Given the description of an element on the screen output the (x, y) to click on. 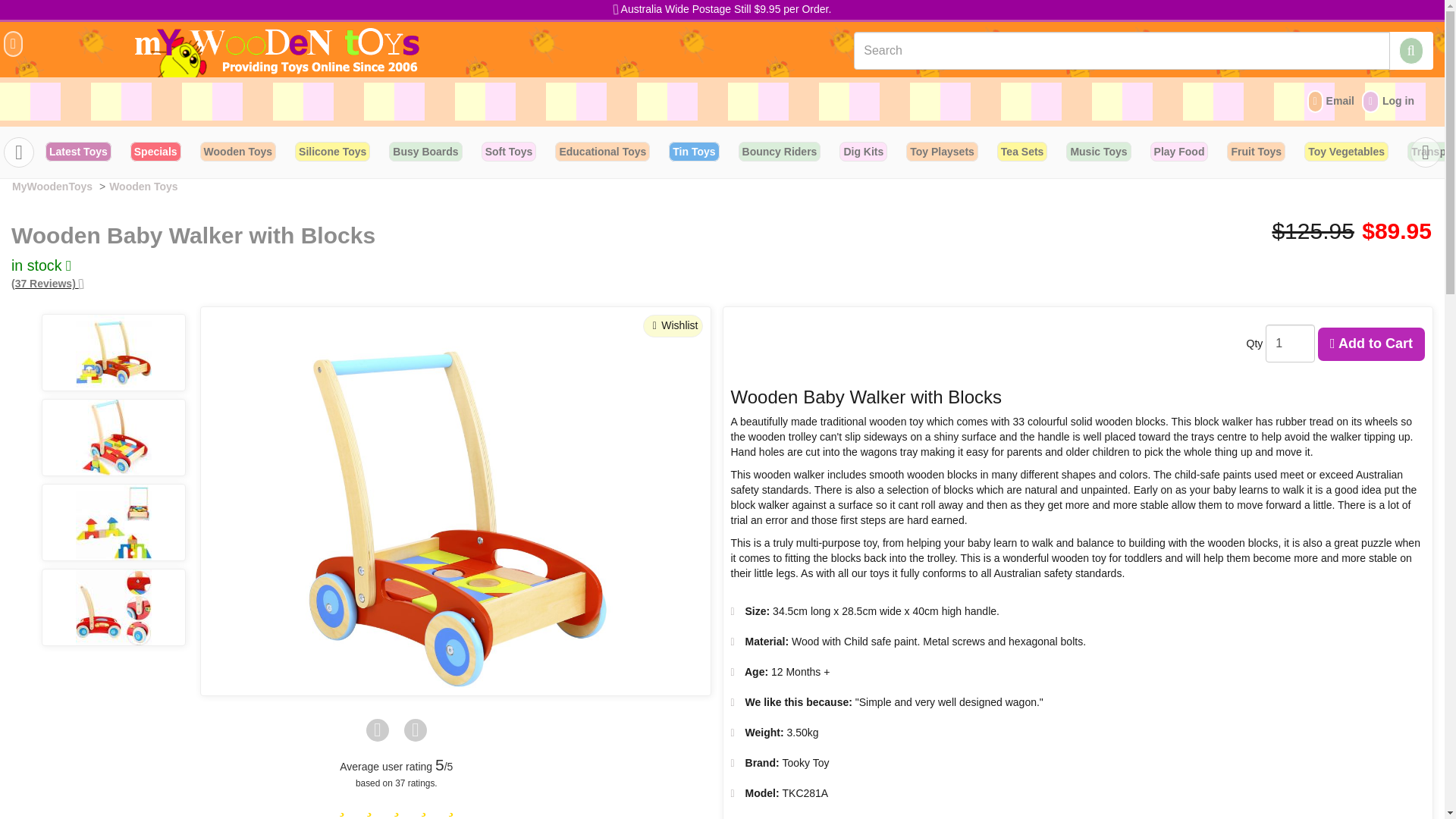
Baby Walker with Blocks (455, 516)
Toy Vegetables (1346, 151)
Busy Boards (424, 151)
My Wooden Toys (278, 50)
Baby Walker with Blocks Detail-Three (113, 522)
Toy Playsets (941, 151)
1 (1289, 343)
Music Toys (1098, 151)
Fruit Toys (1256, 151)
Play Food (1179, 151)
